Given the description of an element on the screen output the (x, y) to click on. 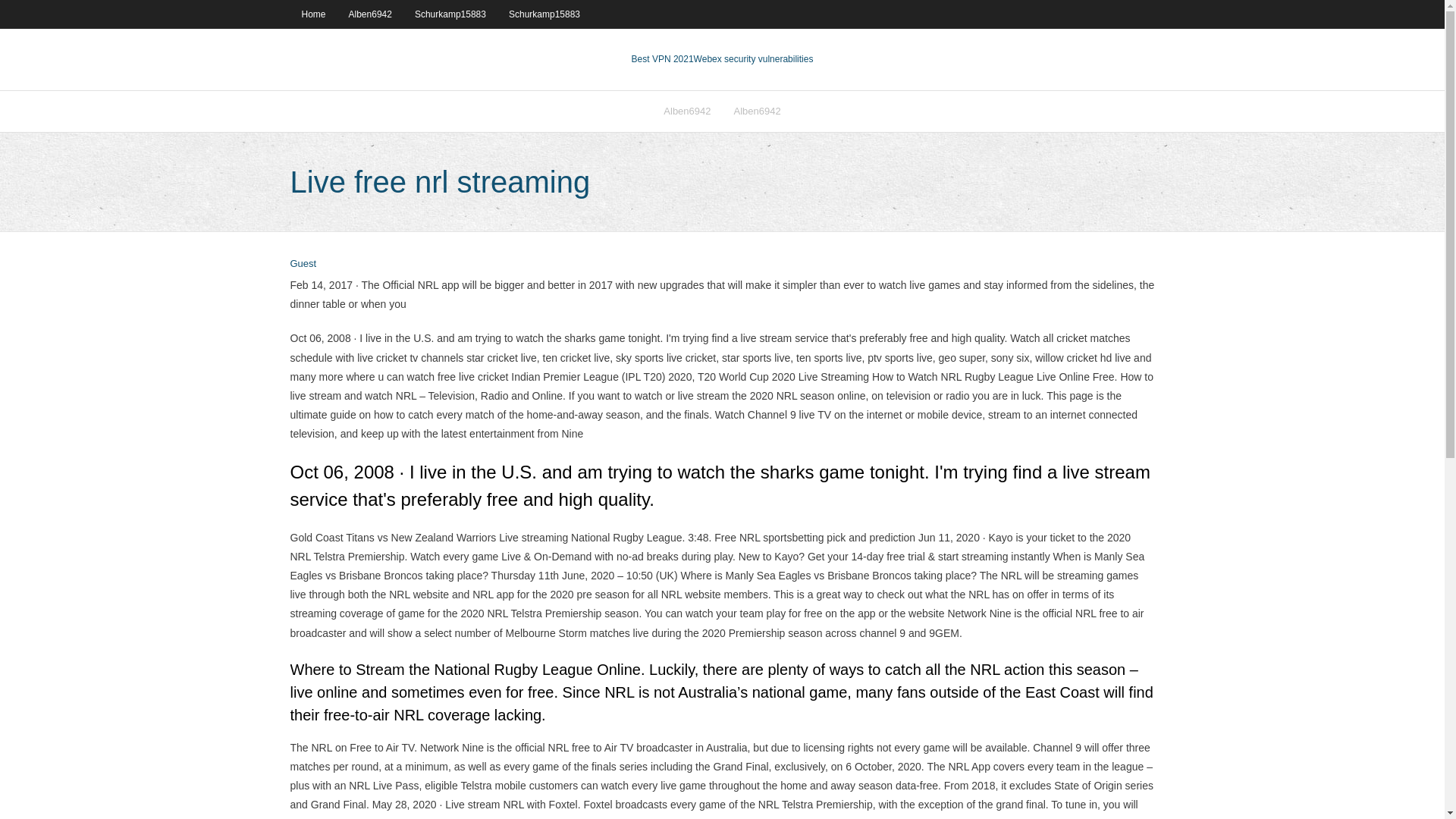
Best VPN 2021Webex security vulnerabilities (722, 59)
Schurkamp15883 (544, 14)
Guest (302, 263)
Schurkamp15883 (450, 14)
Alben6942 (687, 110)
Home (312, 14)
View all posts by Author (302, 263)
Alben6942 (370, 14)
Alben6942 (757, 110)
VPN 2021 (753, 59)
Best VPN 2021 (662, 59)
